Given the description of an element on the screen output the (x, y) to click on. 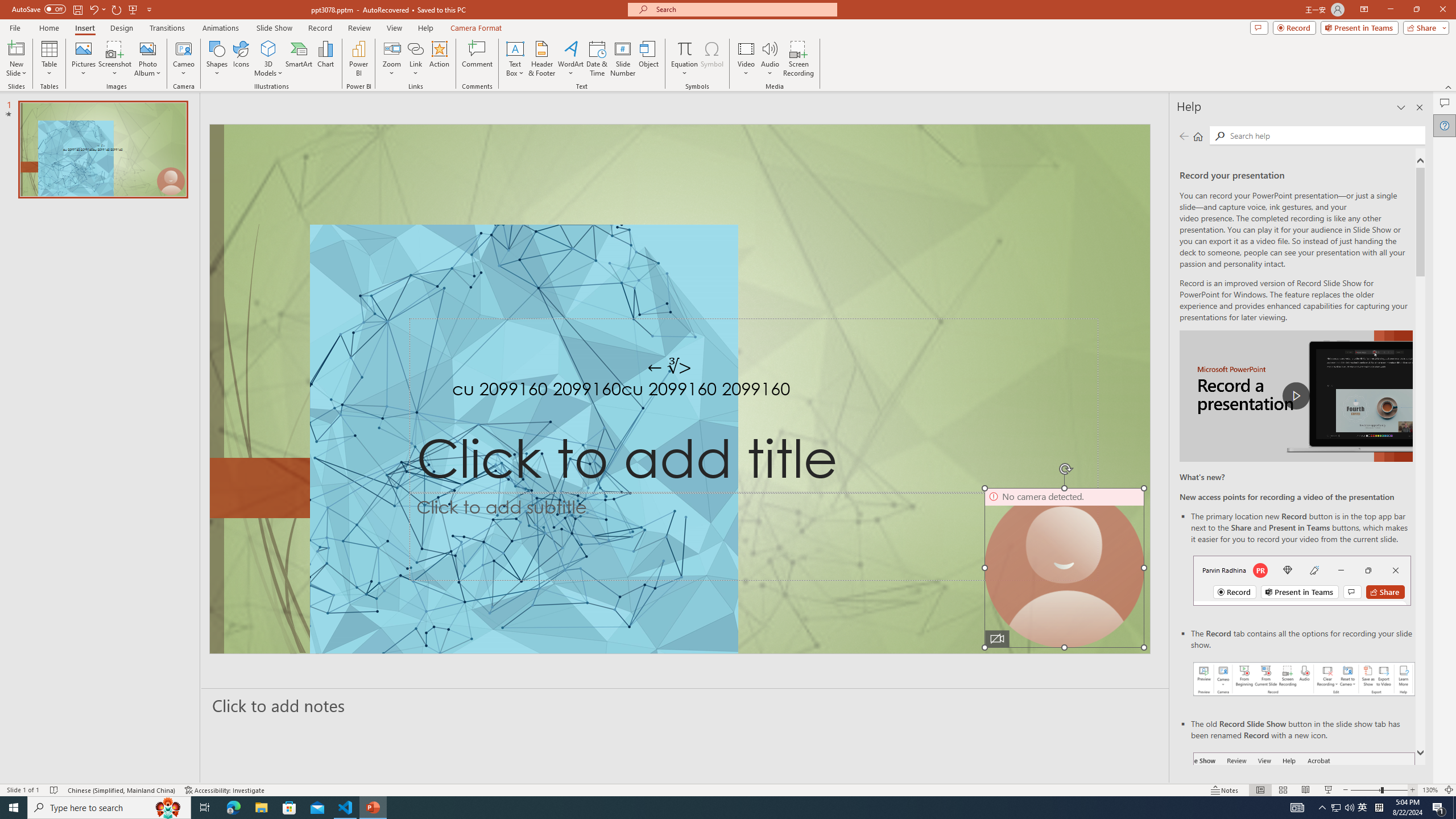
Object... (649, 58)
Date & Time... (596, 58)
Slide Notes (685, 705)
Title TextBox (753, 405)
Camera 9, No camera detected. (1064, 567)
play Record a Presentation (1296, 395)
